Given the description of an element on the screen output the (x, y) to click on. 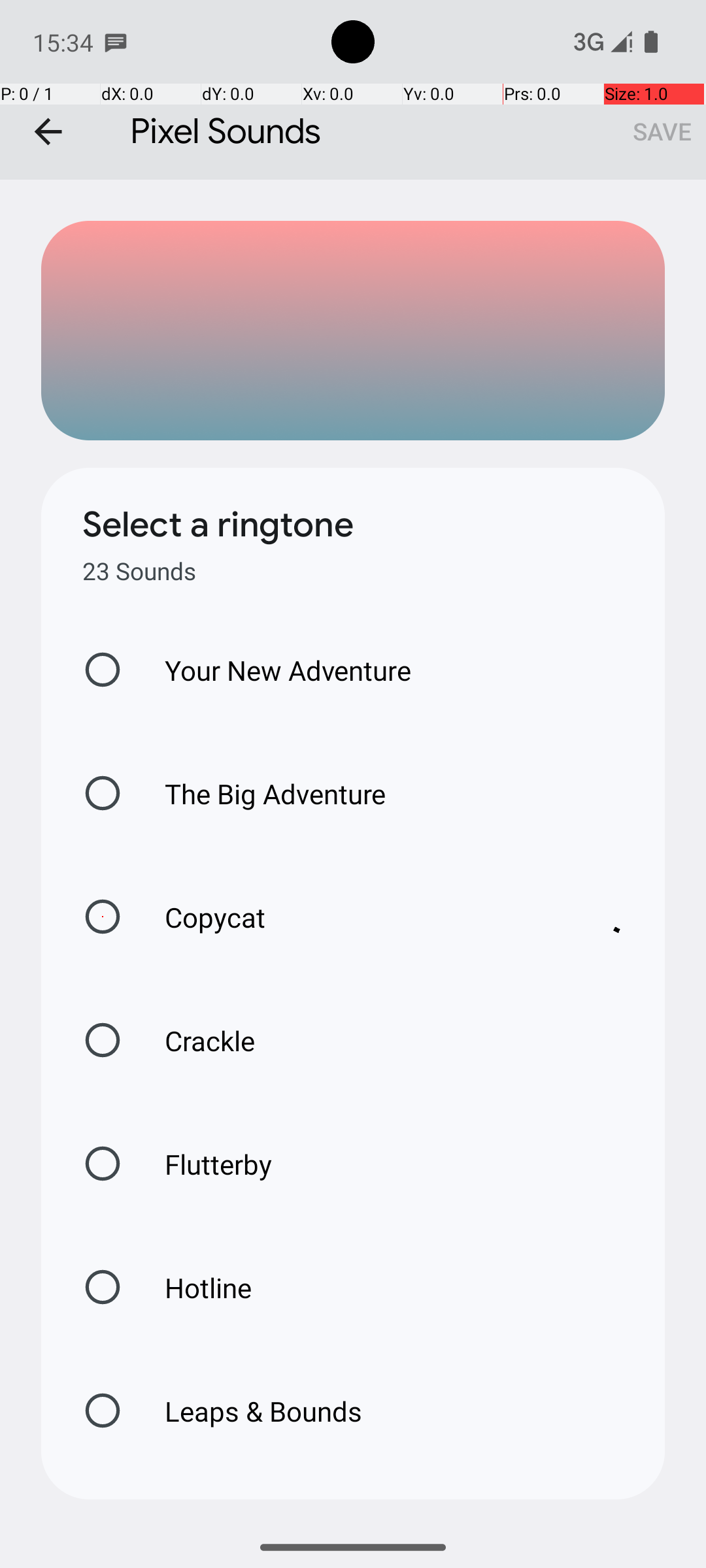
Pixel Sounds Element type: android.widget.FrameLayout (353, 89)
Select a ringtone Element type: android.widget.TextView (217, 524)
23 Sounds Element type: android.widget.TextView (139, 570)
Your New Adventure Element type: android.widget.TextView (274, 669)
The Big Adventure Element type: android.widget.TextView (261, 793)
Copycat Element type: android.widget.TextView (359, 916)
Download in progress Element type: android.widget.ImageView (623, 916)
Crackle Element type: android.widget.TextView (196, 1040)
Flutterby Element type: android.widget.TextView (204, 1163)
Hotline Element type: android.widget.TextView (194, 1287)
Leaps & Bounds Element type: android.widget.TextView (249, 1410)
